Given the description of an element on the screen output the (x, y) to click on. 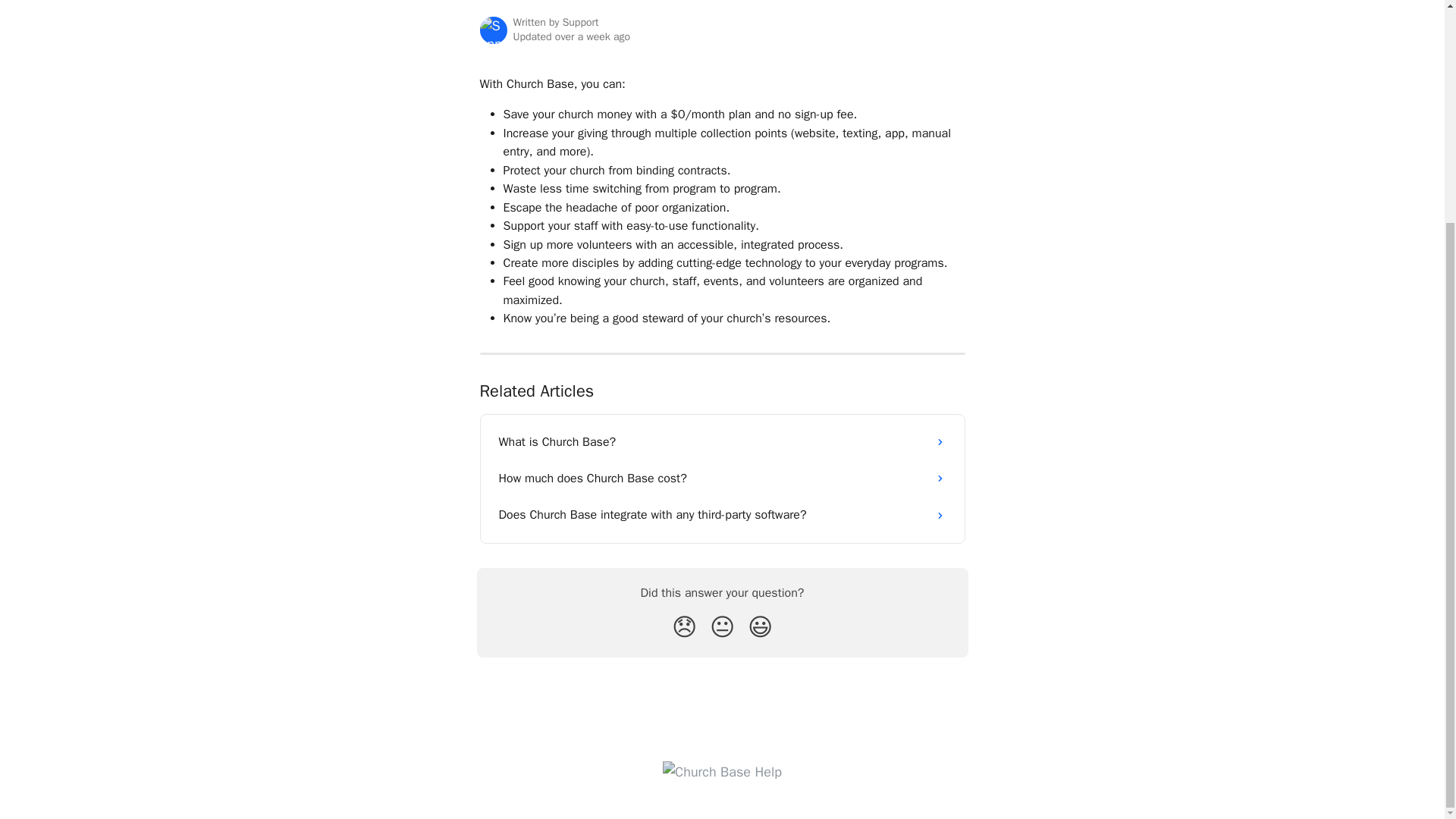
Disappointed (684, 626)
Does Church Base integrate with any third-party software? (722, 514)
Neutral (722, 626)
What is Church Base? (722, 442)
Smiley (760, 626)
How much does Church Base cost? (722, 478)
